Given the description of an element on the screen output the (x, y) to click on. 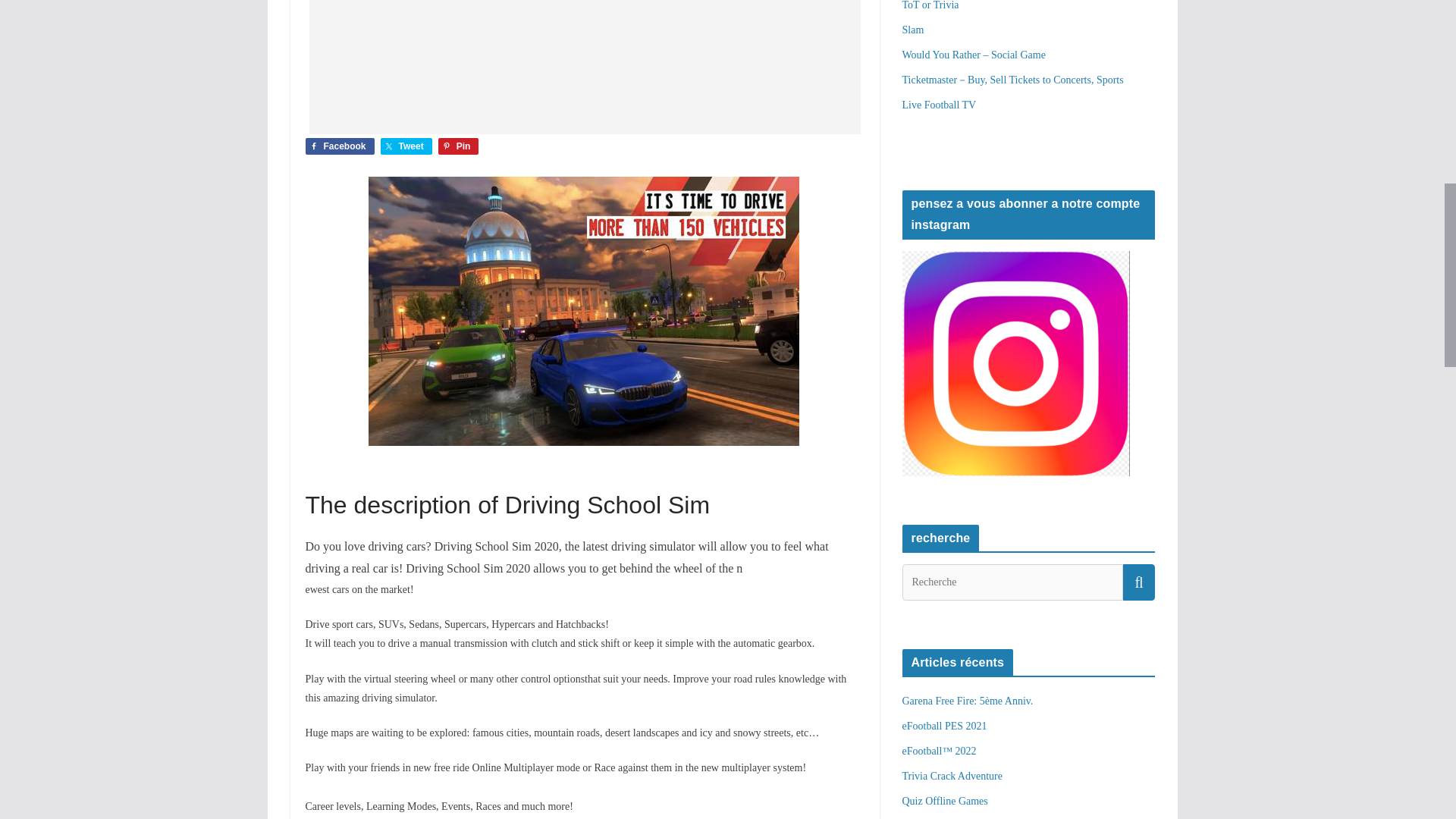
Share on Twitter (406, 146)
Share on Pinterest (458, 146)
Facebook (339, 146)
Advertisement (584, 67)
Tweet (406, 146)
Share on Facebook (339, 146)
Pin (458, 146)
